Given the description of an element on the screen output the (x, y) to click on. 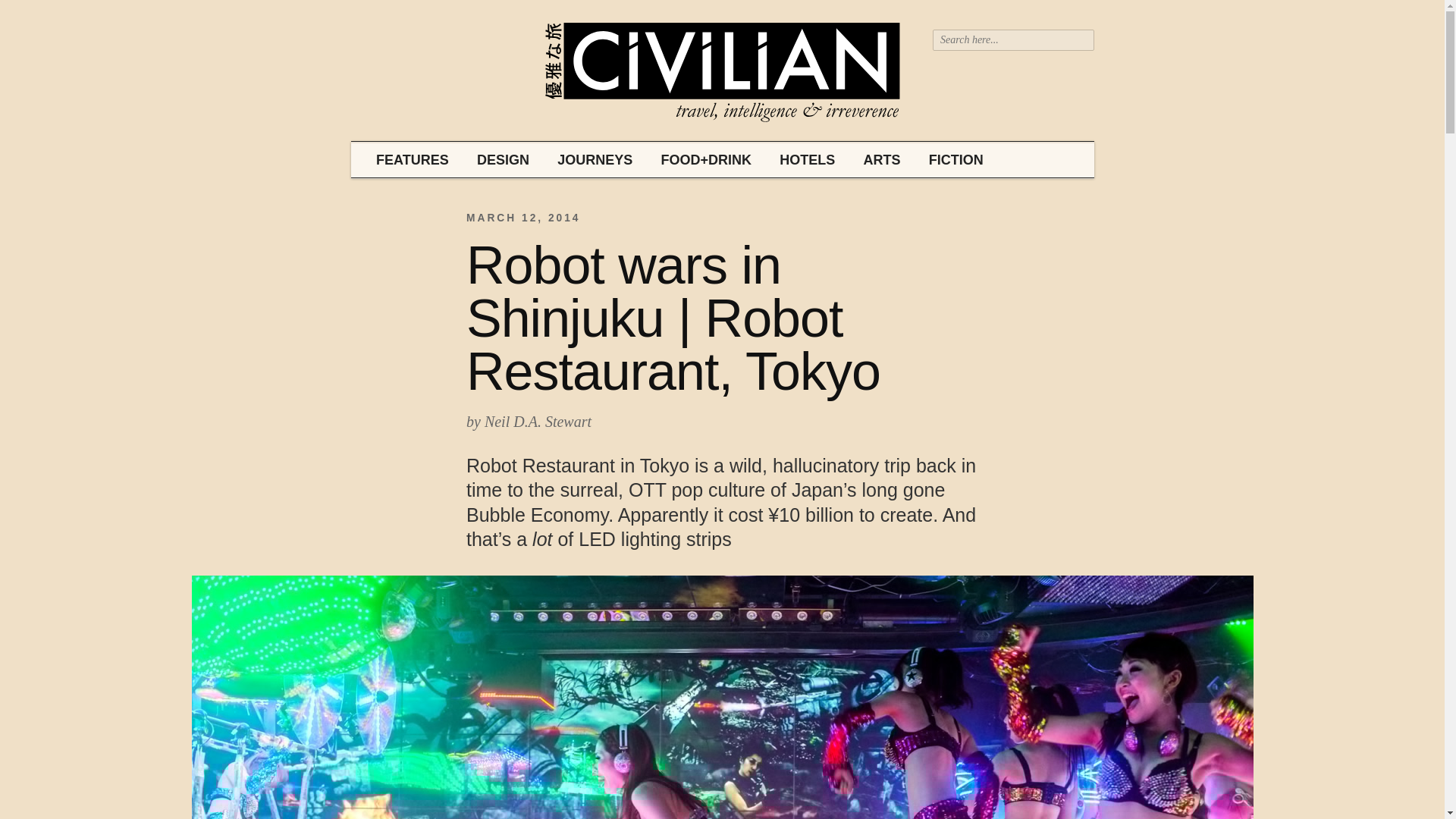
Neil D.A. Stewart (537, 421)
FEATURES (406, 160)
DESIGN (494, 160)
Civilian - Global Style and Culture (721, 74)
ABOUT (1027, 159)
HOTELS (798, 160)
ARTS (872, 160)
Posts by Neil D.A. Stewart (537, 421)
FICTION (948, 160)
JOURNEYS (585, 160)
